Given the description of an element on the screen output the (x, y) to click on. 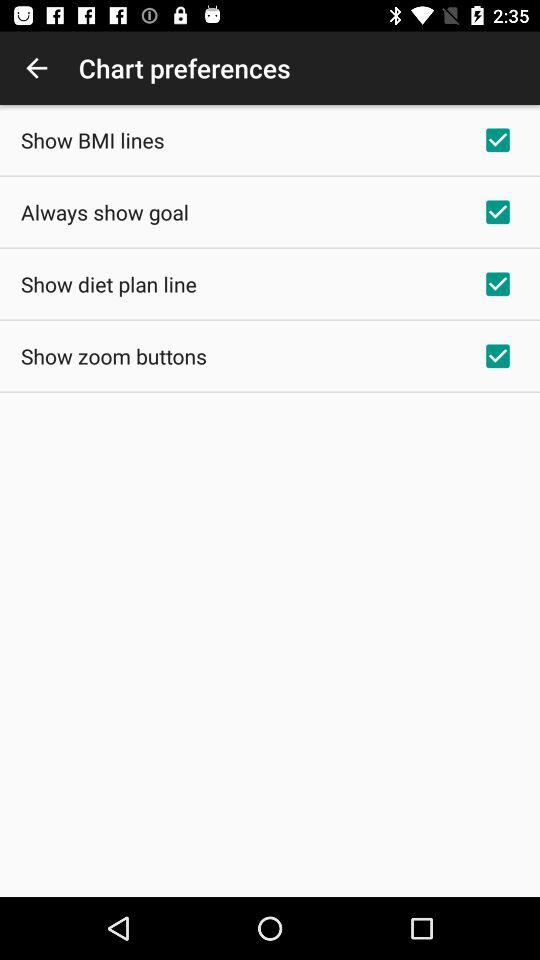
open show zoom buttons icon (113, 355)
